Given the description of an element on the screen output the (x, y) to click on. 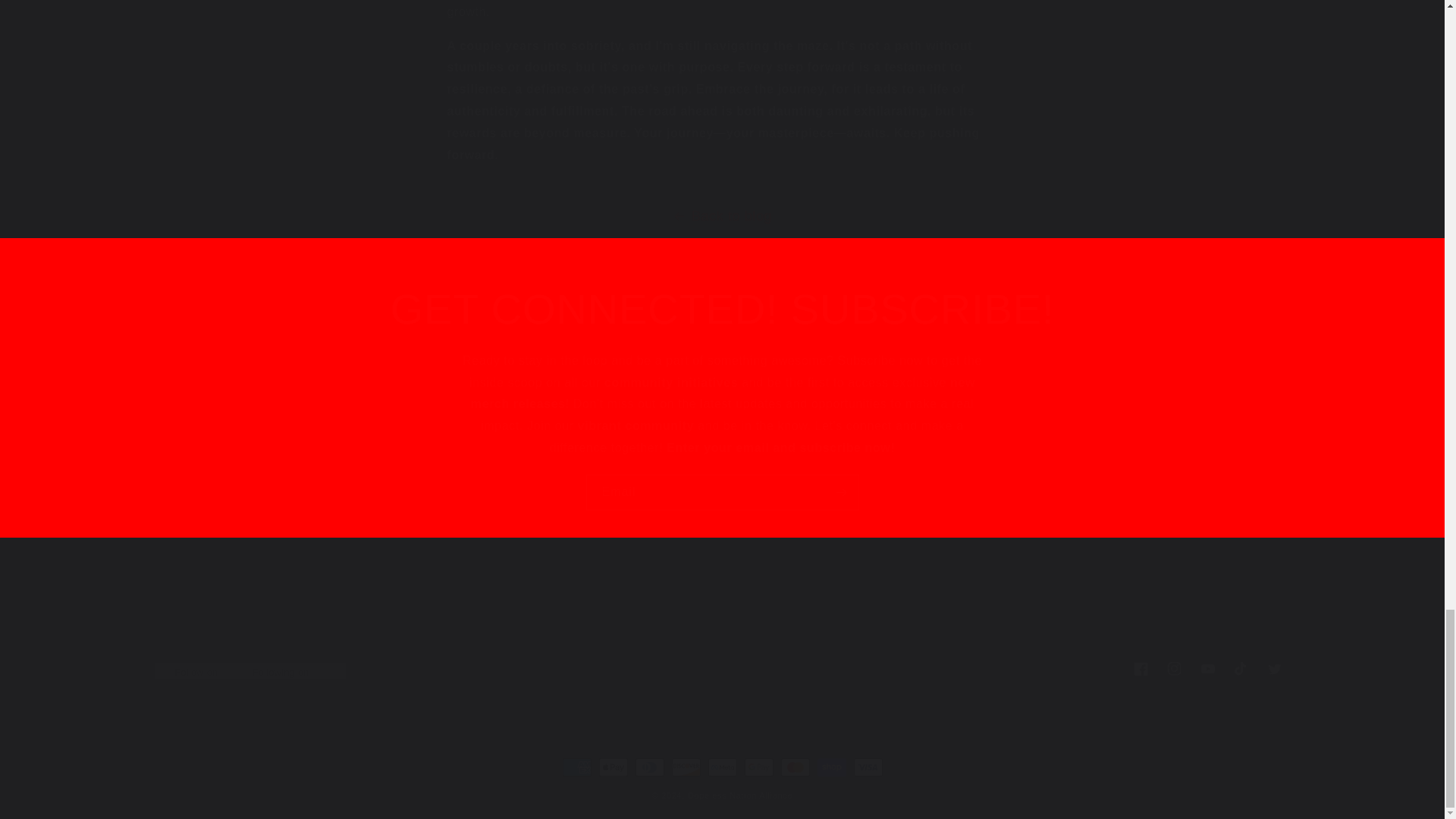
Email (722, 492)
GET CONNECTED! SUBSCRIBE! (721, 308)
